Given the description of an element on the screen output the (x, y) to click on. 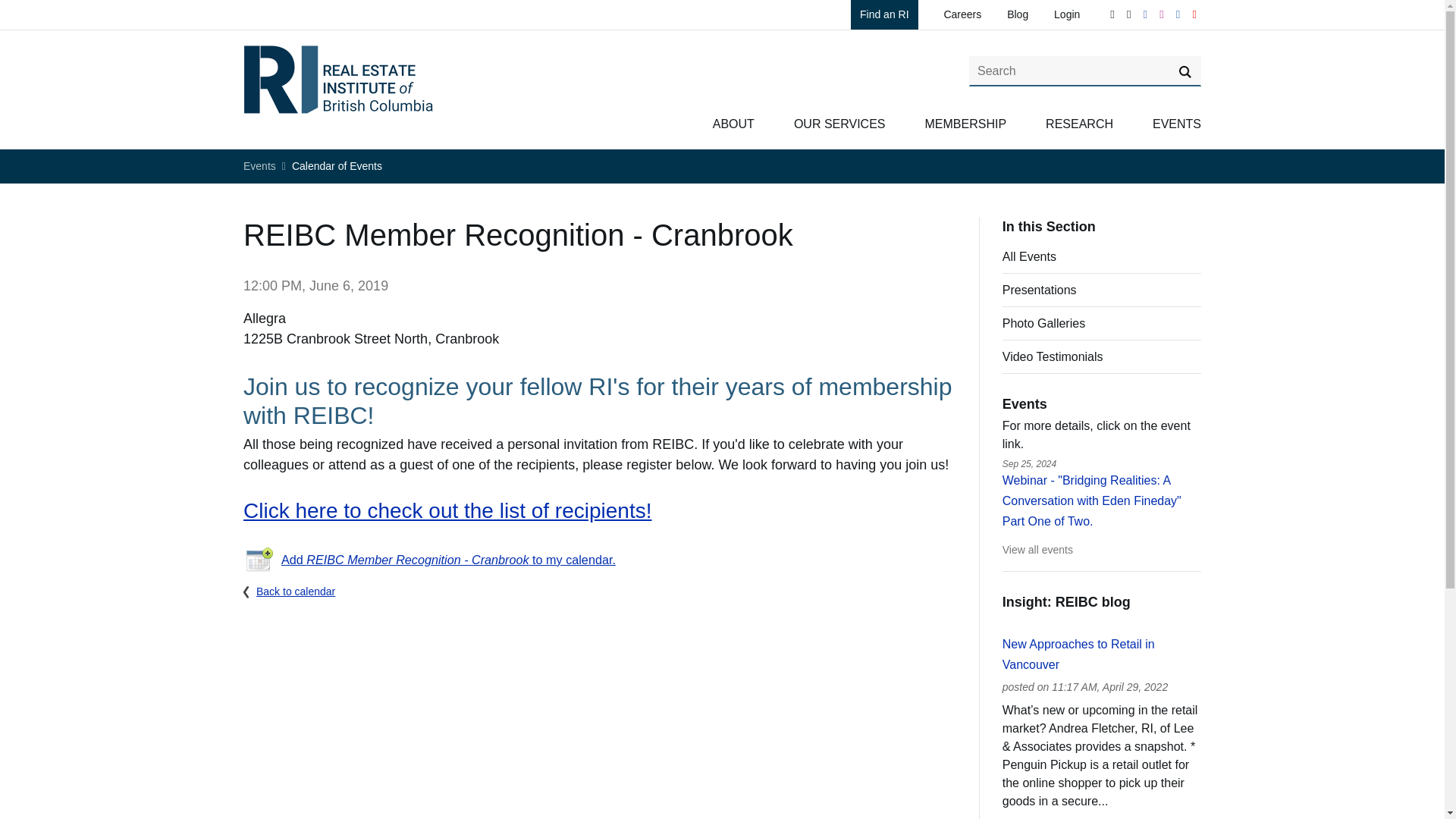
OUR SERVICES (839, 124)
Blog (1017, 14)
Login (1067, 14)
Careers (962, 14)
ABOUT (733, 124)
Search (1185, 70)
Find an RI (884, 14)
Search (1185, 70)
